Given the description of an element on the screen output the (x, y) to click on. 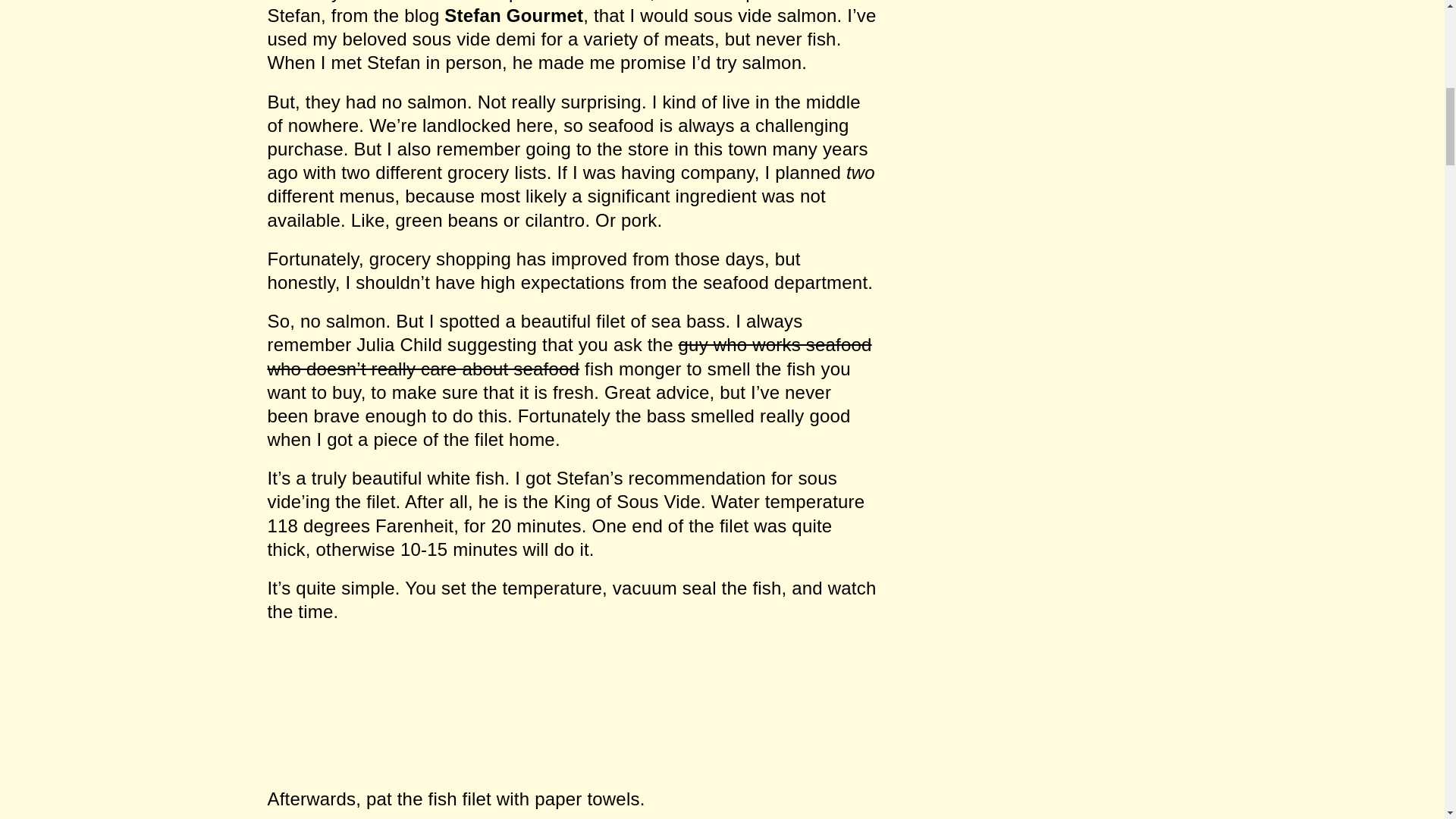
sea1 (609, 705)
sea (379, 705)
Stefan Gourmet (513, 14)
I met Stefan in person (411, 62)
sea2 (801, 705)
